Given the description of an element on the screen output the (x, y) to click on. 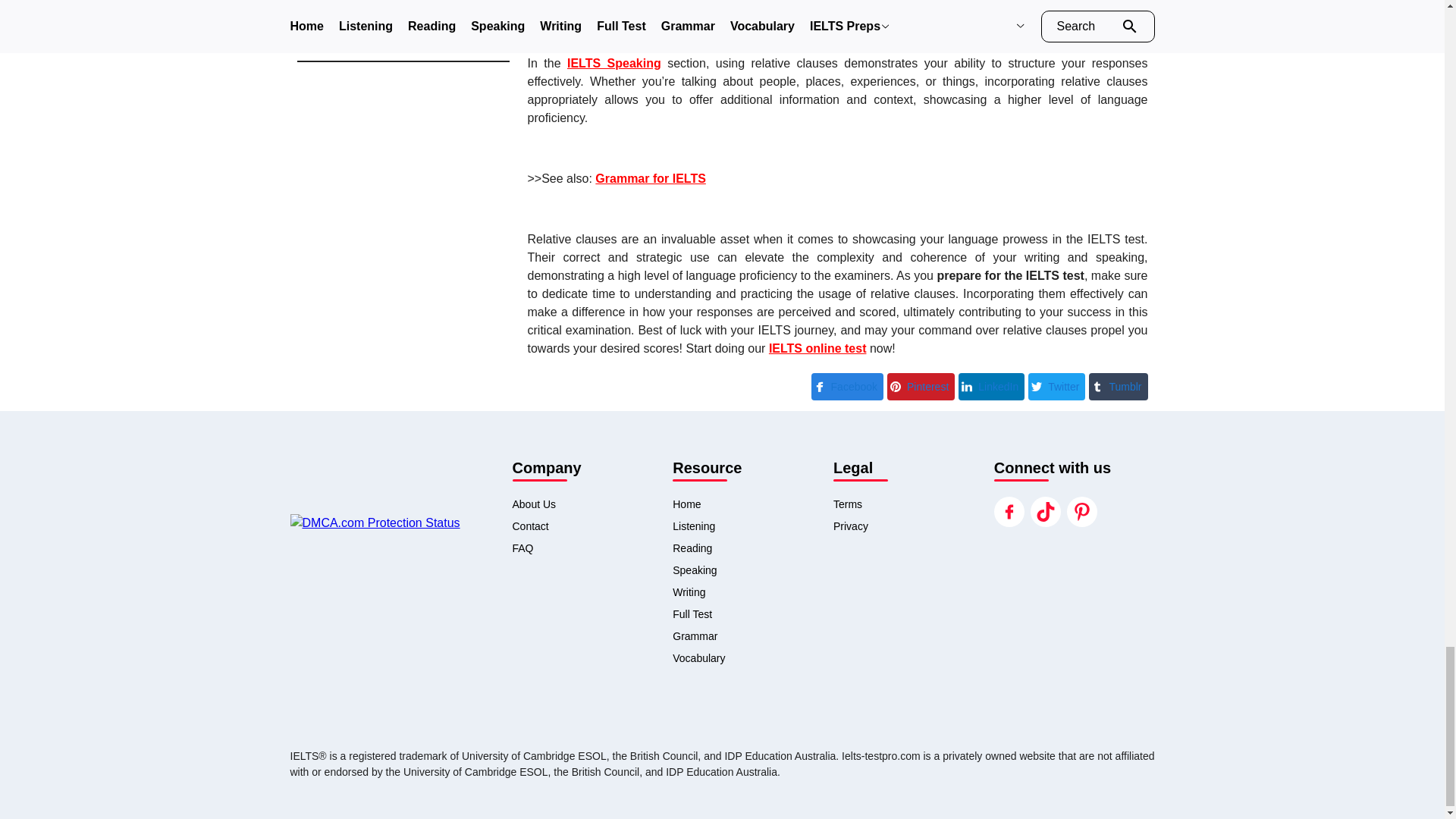
Share on Pinterest (920, 384)
Tumblr (1118, 384)
Facebook (846, 384)
Share on LinkedIn (991, 384)
LinkedIn (991, 384)
Share on Facebook (846, 384)
Twitter (1055, 384)
LinkedIn (991, 387)
DMCA.com Protection Status (394, 523)
Pinterest (920, 387)
Twitter (1055, 387)
Share on Twitter (1055, 384)
Tumblr (1118, 387)
Facebook (846, 387)
Pinterest (920, 384)
